Given the description of an element on the screen output the (x, y) to click on. 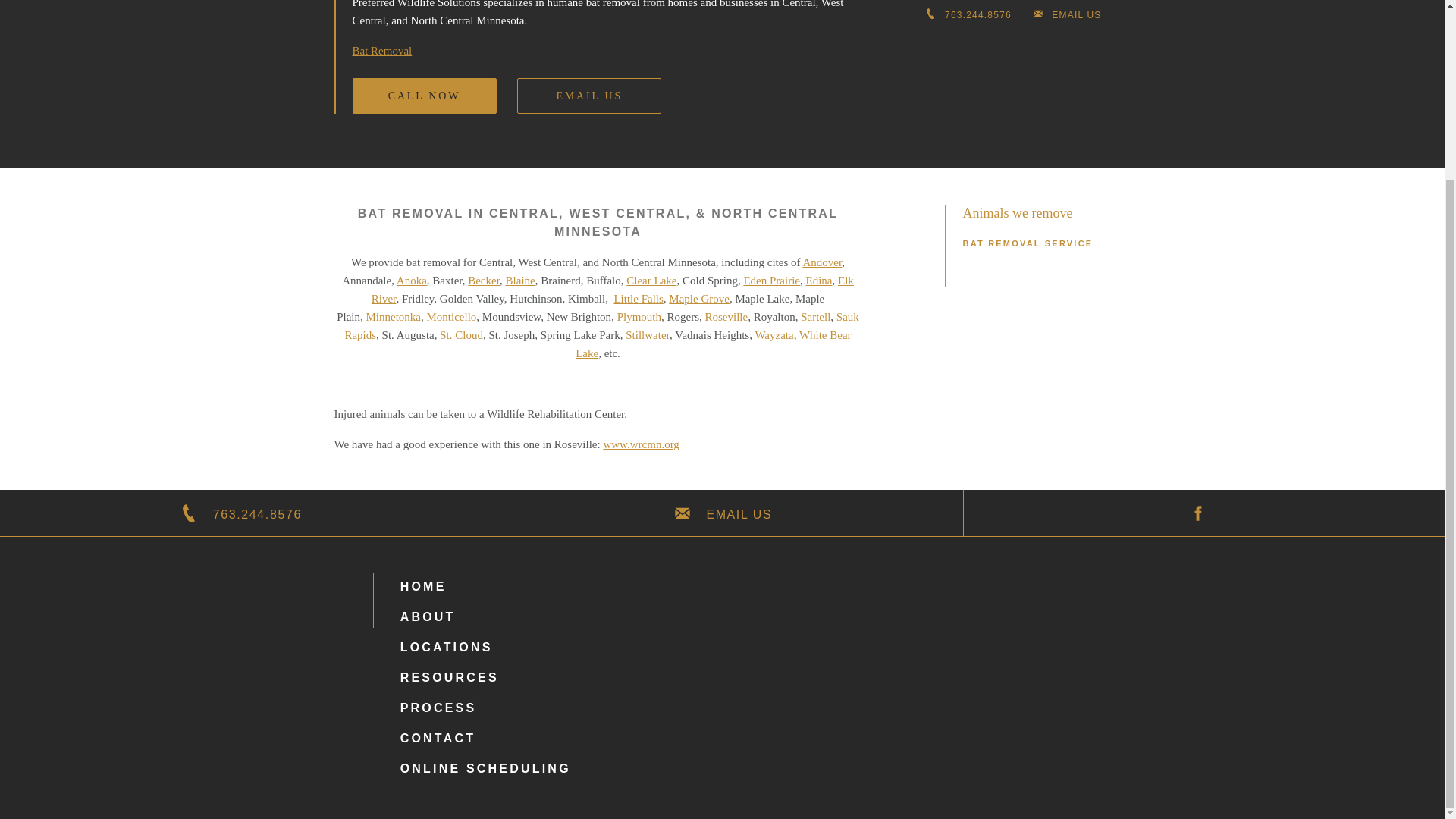
Edina (818, 280)
EMAIL US (721, 513)
Plymouth (639, 316)
Maple Grove (698, 298)
Sauk Rapids (601, 326)
BAT REMOVAL SERVICE (1027, 243)
Minnetonka (394, 316)
Monticello (451, 316)
www.wrcmn.org (640, 444)
EMAIL US (588, 95)
